Given the description of an element on the screen output the (x, y) to click on. 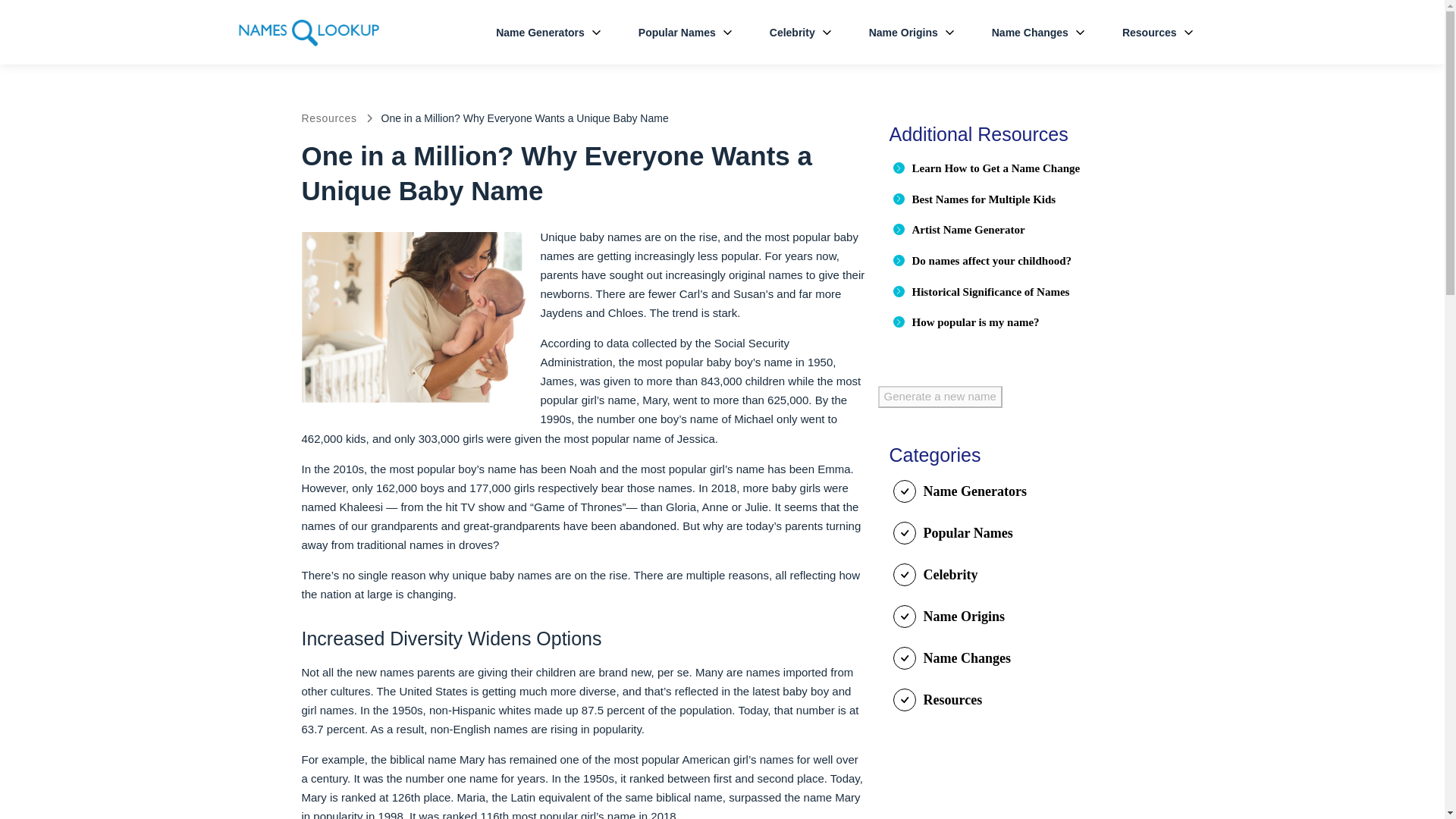
Resources (1157, 32)
Artist Name Generator (968, 229)
Best Names for Multiple Kids (983, 199)
Popular Names (684, 32)
Name Origins (911, 32)
Learn How to Get a Name Change (995, 168)
Celebrity (799, 32)
Name Changes (1037, 32)
Do names affect your childhood? (991, 260)
Celebrity (799, 32)
Resources (328, 118)
Name Generators (548, 32)
